Given the description of an element on the screen output the (x, y) to click on. 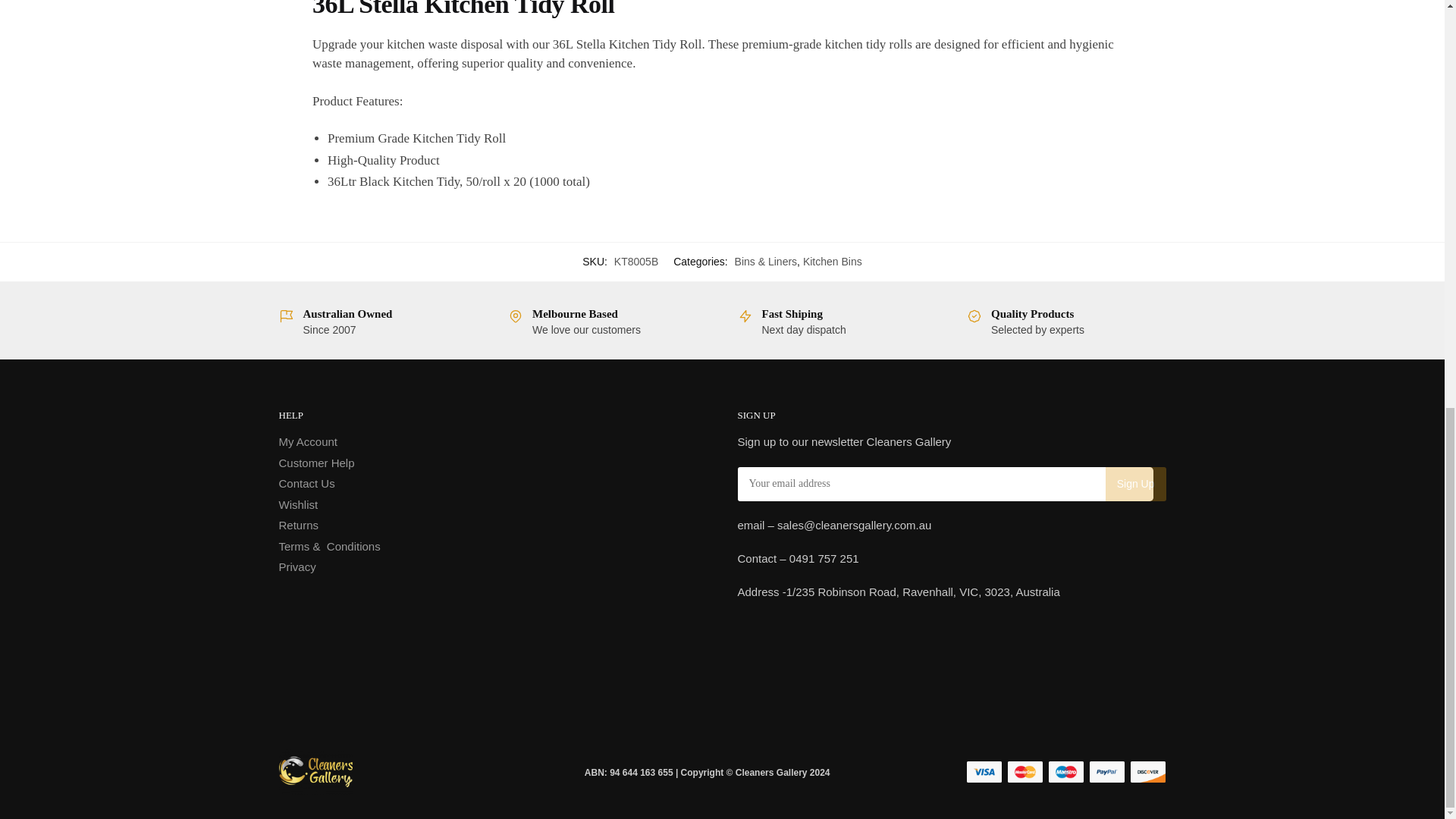
Sign up (1135, 483)
